Given the description of an element on the screen output the (x, y) to click on. 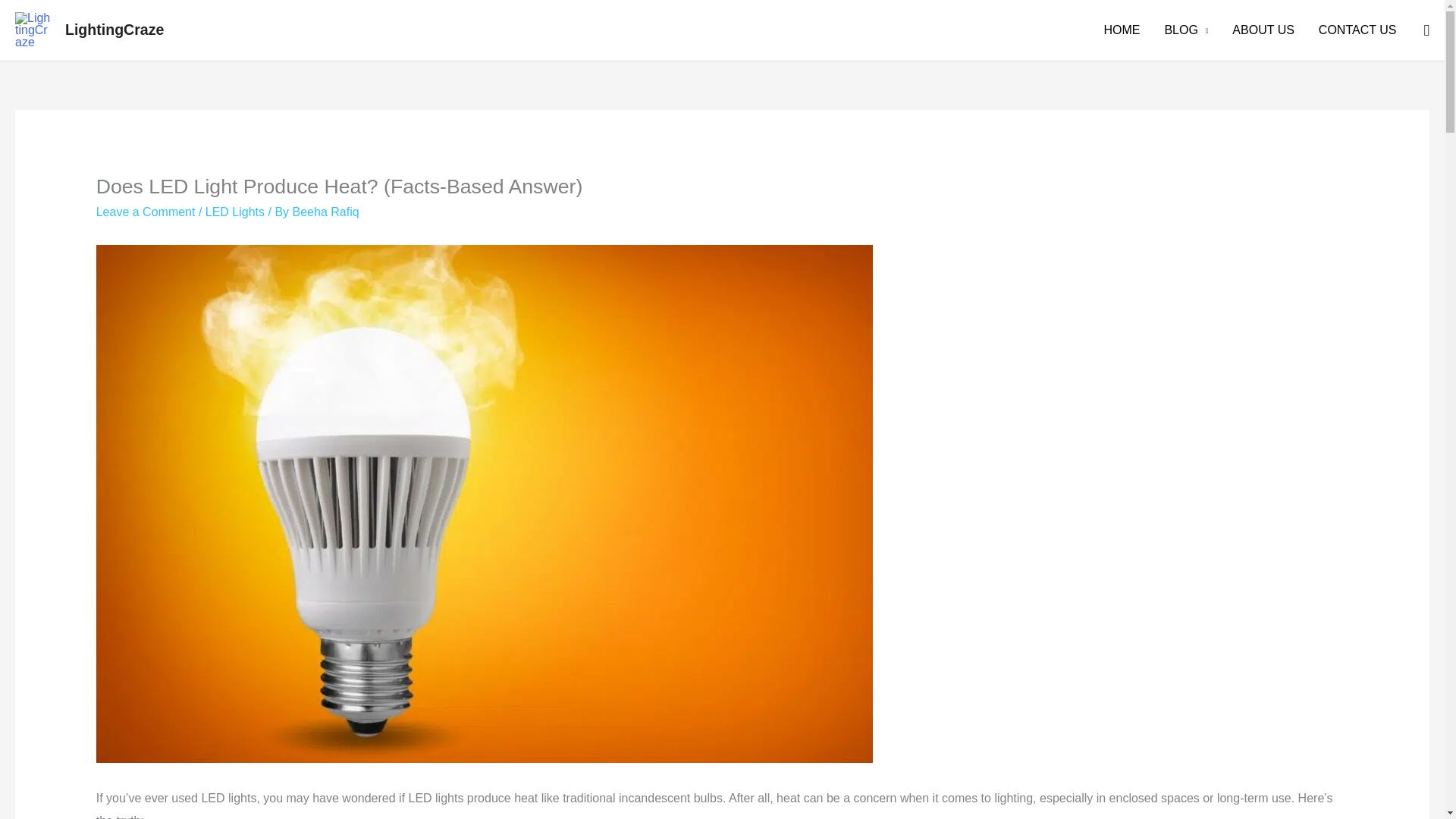
LightingCraze (114, 29)
HOME (1120, 30)
CONTACT US (1357, 30)
View all posts by Beeha Rafiq (325, 211)
LED Lights (234, 211)
BLOG (1185, 30)
ABOUT US (1263, 30)
Leave a Comment (145, 211)
Beeha Rafiq (325, 211)
